Given the description of an element on the screen output the (x, y) to click on. 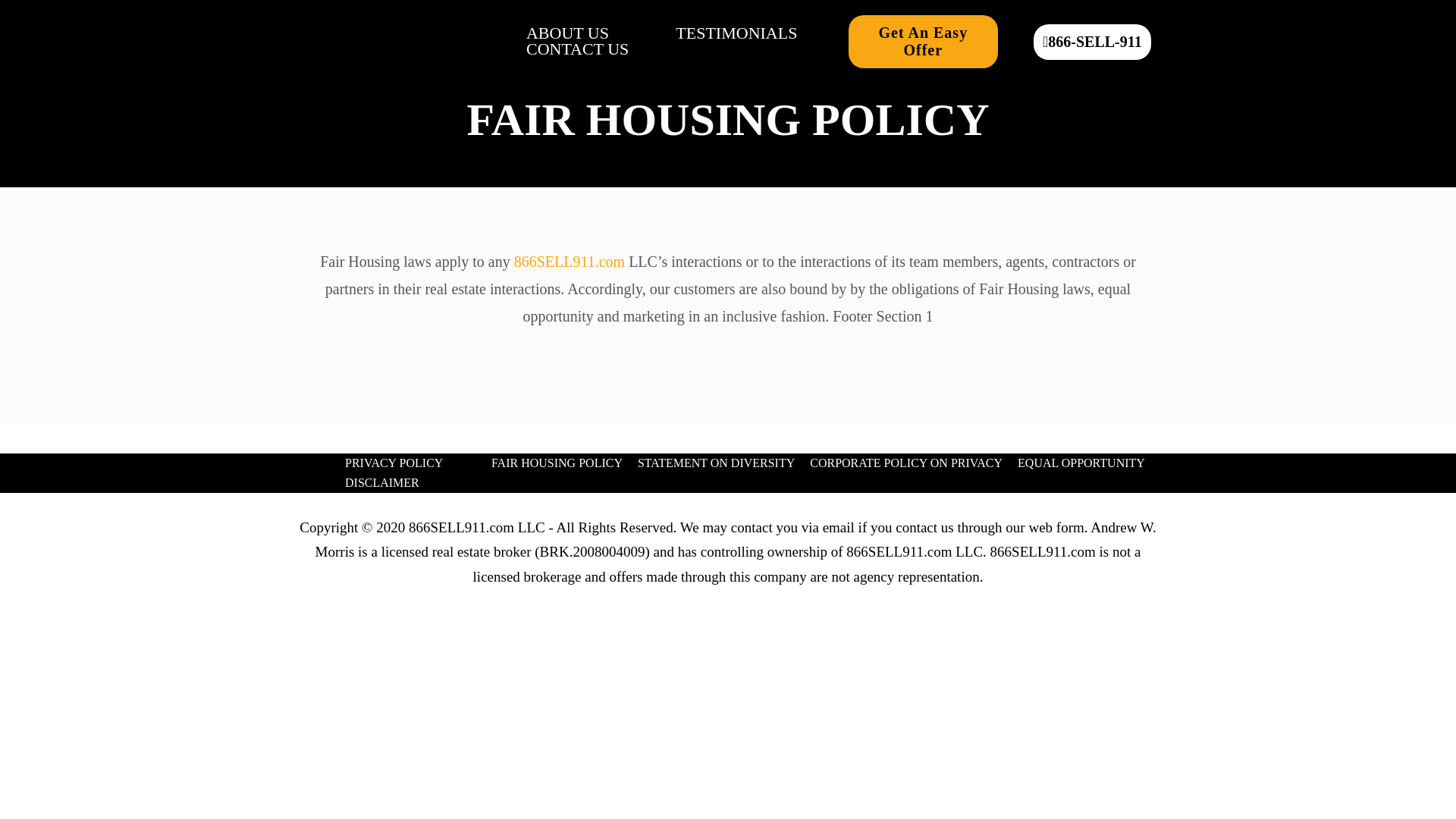
866SELL911.com (568, 261)
CONTACT US (577, 49)
CORPORATE POLICY ON PRIVACY (906, 463)
866-SELL-911 (1092, 40)
PRIVACY POLICY (393, 463)
ABOUT US (566, 33)
EQUAL OPPORTUNITY (1081, 463)
FAIR HOUSING POLICY (556, 463)
DISCLAIMER (381, 483)
TESTIMONIALS (736, 33)
Get An Easy Offer (922, 41)
STATEMENT ON DIVERSITY (716, 463)
